Given the description of an element on the screen output the (x, y) to click on. 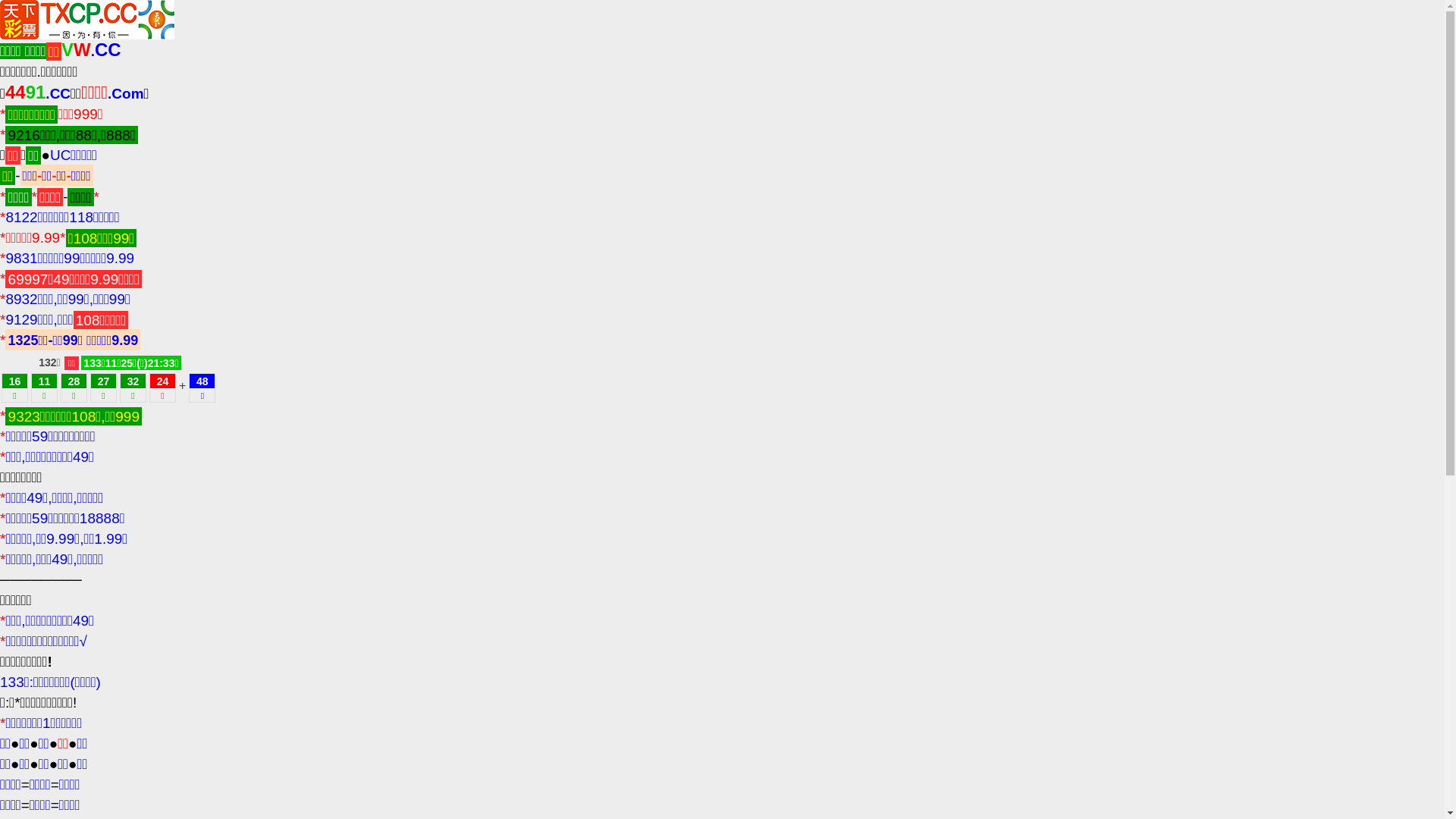
VW.CC Element type: text (91, 51)
4491.CC Element type: text (37, 93)
